Given the description of an element on the screen output the (x, y) to click on. 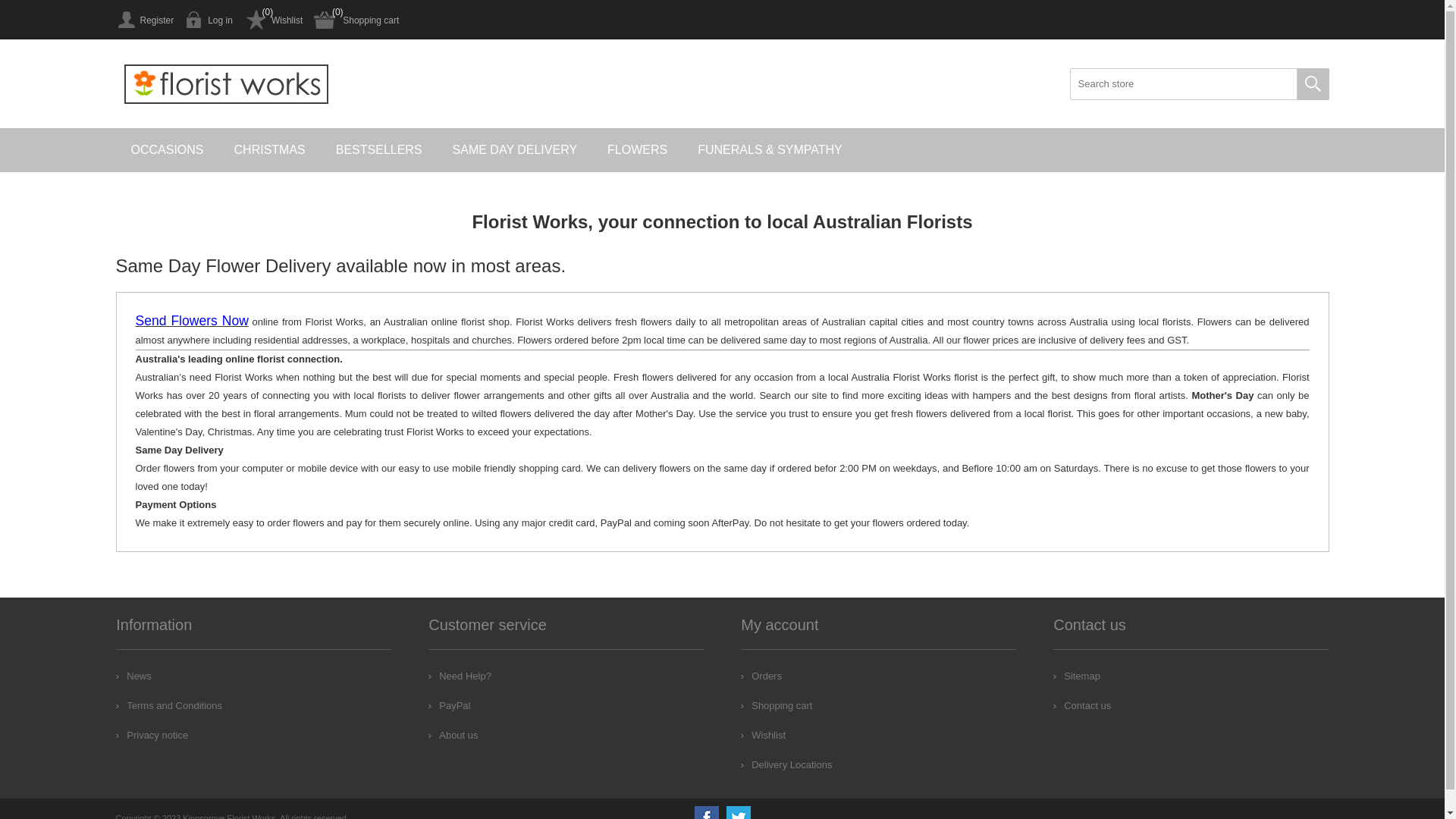
Privacy notice Element type: text (152, 734)
Delivery Locations Element type: text (785, 764)
FUNERALS & SYMPATHY Element type: text (769, 150)
Send Flowers Now Element type: text (190, 321)
Wishlist Element type: text (762, 734)
Search Element type: text (1312, 84)
Register Element type: text (144, 19)
OCCASIONS Element type: text (166, 150)
PayPal Element type: text (449, 705)
CHRISTMAS Element type: text (269, 150)
Shopping cart Element type: text (355, 19)
Need Help? Element type: text (459, 675)
About us Element type: text (452, 734)
BESTSELLERS Element type: text (378, 150)
Orders Element type: text (760, 675)
Shopping cart Element type: text (776, 705)
Wishlist Element type: text (273, 19)
News Element type: text (133, 675)
Log in Element type: text (208, 19)
Sitemap Element type: text (1076, 675)
SAME DAY DELIVERY Element type: text (515, 150)
Contact us Element type: text (1081, 705)
FLOWERS Element type: text (637, 150)
Terms and Conditions Element type: text (169, 705)
